Given the description of an element on the screen output the (x, y) to click on. 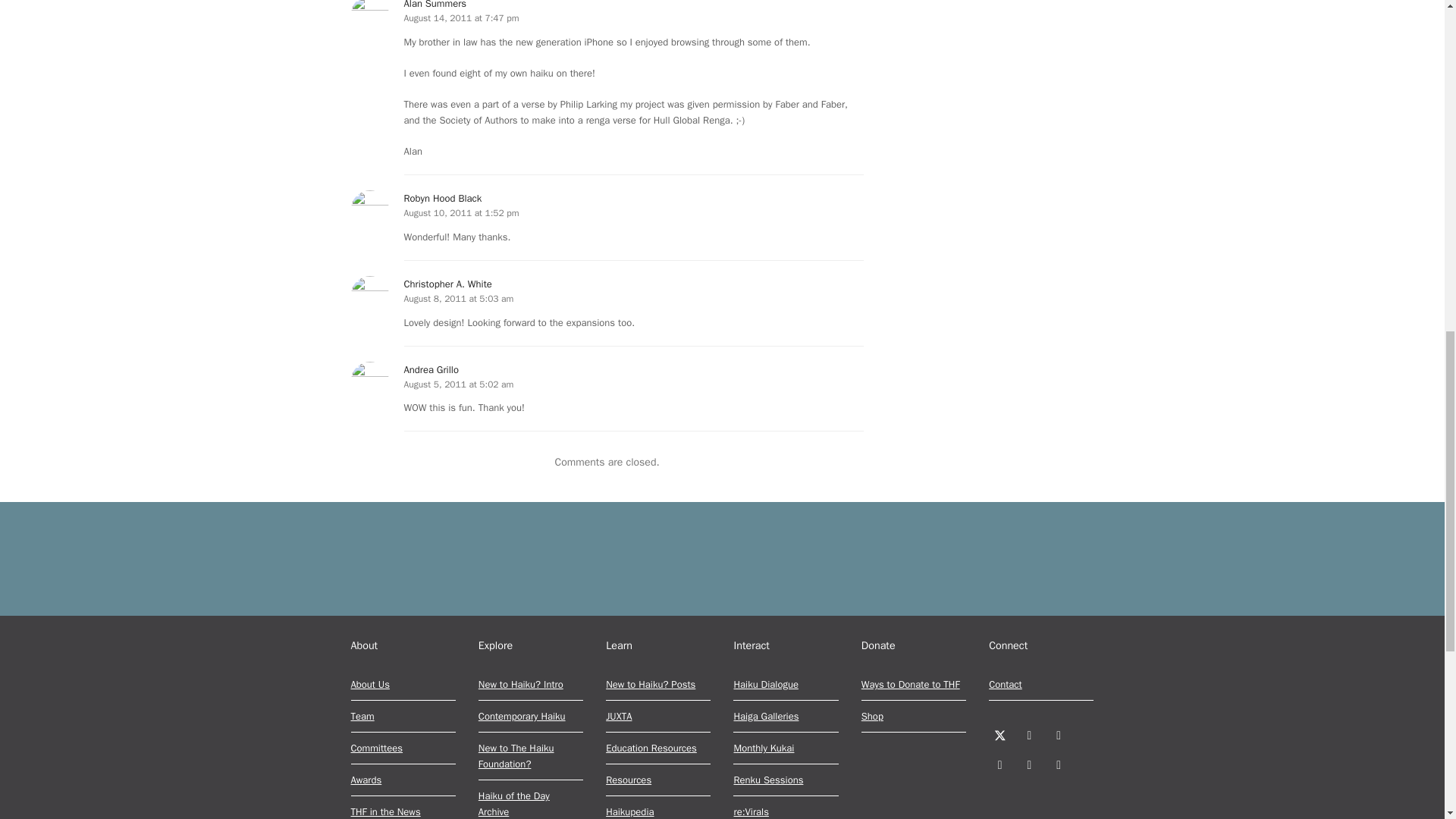
Facebook (1029, 735)
Twitter (999, 735)
YouTube (1029, 765)
Tiktok (1059, 765)
Instagram (1059, 735)
Pinterest (999, 765)
